Given the description of an element on the screen output the (x, y) to click on. 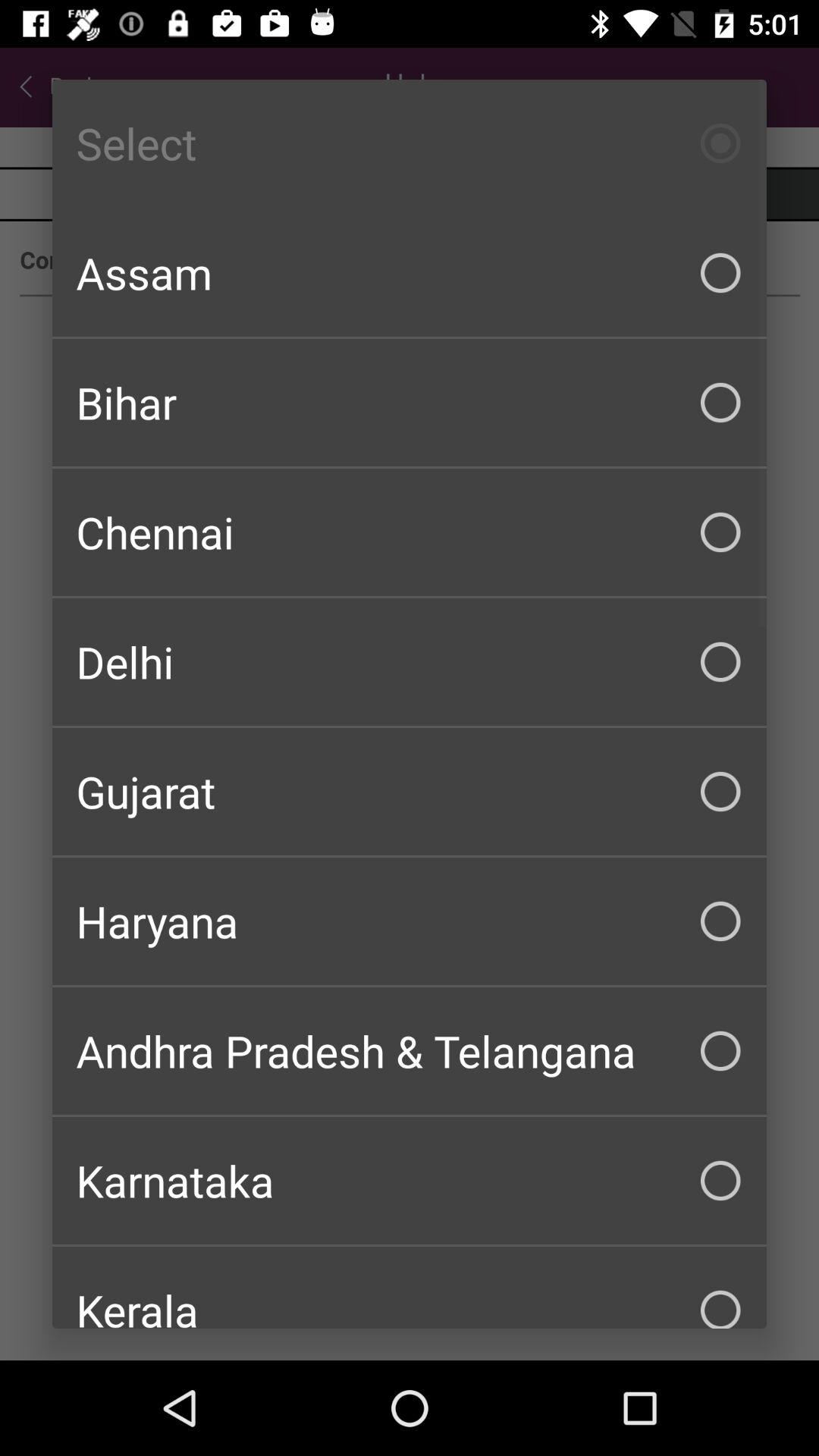
tap the icon above the kerala (409, 1180)
